Given the description of an element on the screen output the (x, y) to click on. 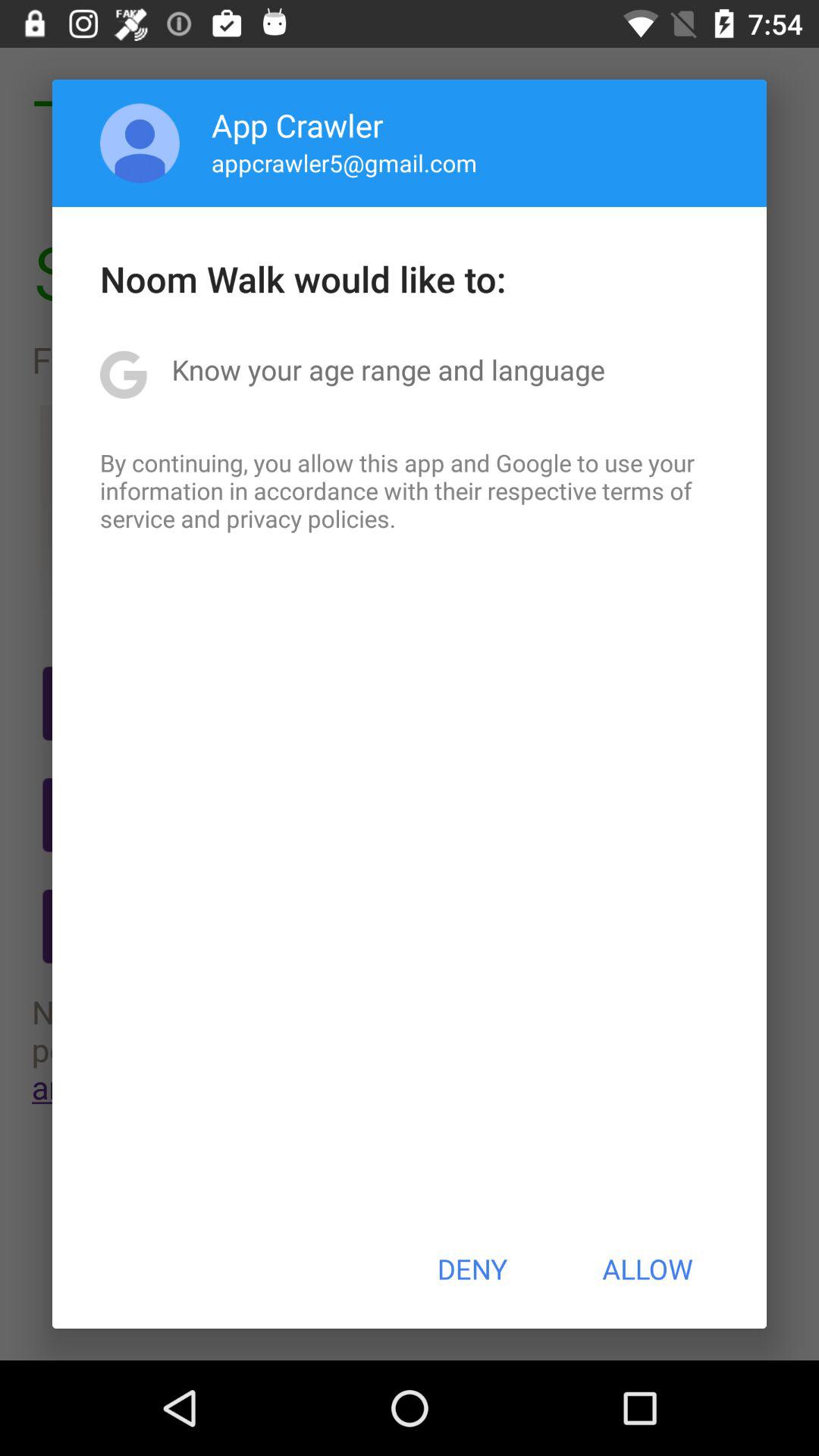
jump until the app crawler app (297, 124)
